Given the description of an element on the screen output the (x, y) to click on. 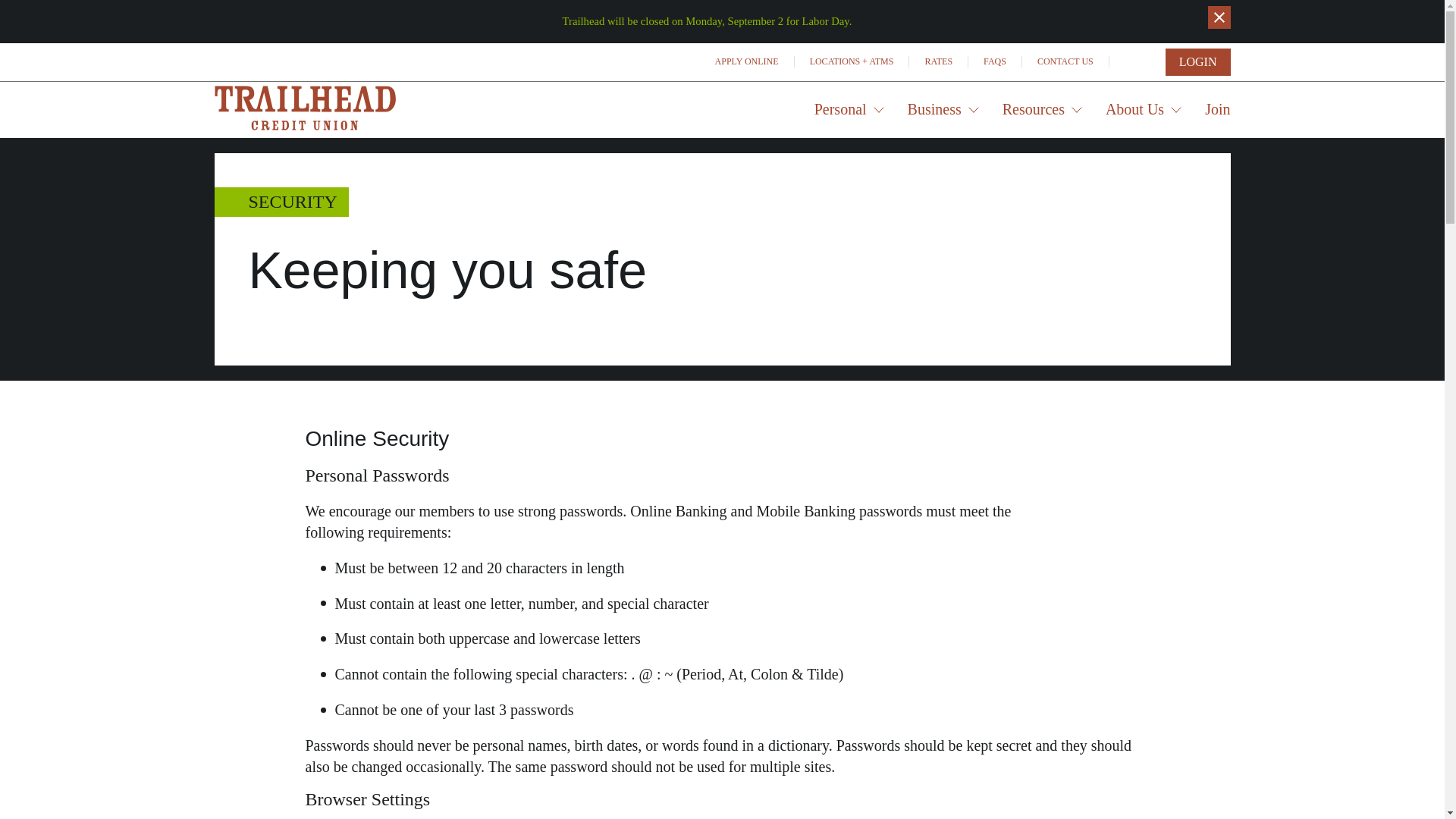
APPLY ONLINE (747, 61)
Personal (849, 109)
FAQS (995, 61)
CONTACT US (1065, 61)
LOGIN (1198, 62)
RATES (938, 61)
